Given the description of an element on the screen output the (x, y) to click on. 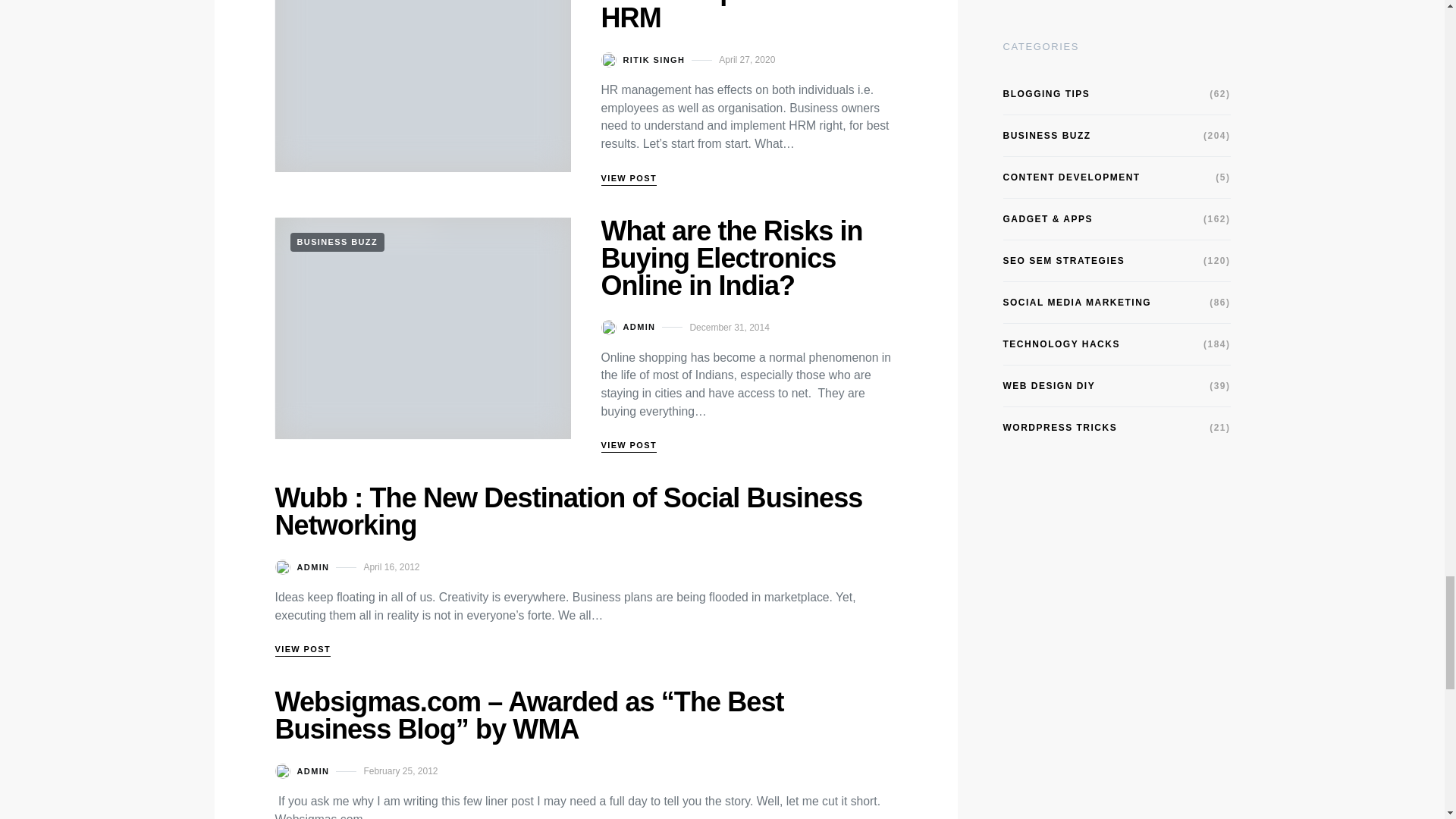
View all posts by Admin (627, 327)
View all posts by Admin (302, 566)
View all posts by Admin (302, 770)
View all posts by Ritik Singh (641, 59)
